Given the description of an element on the screen output the (x, y) to click on. 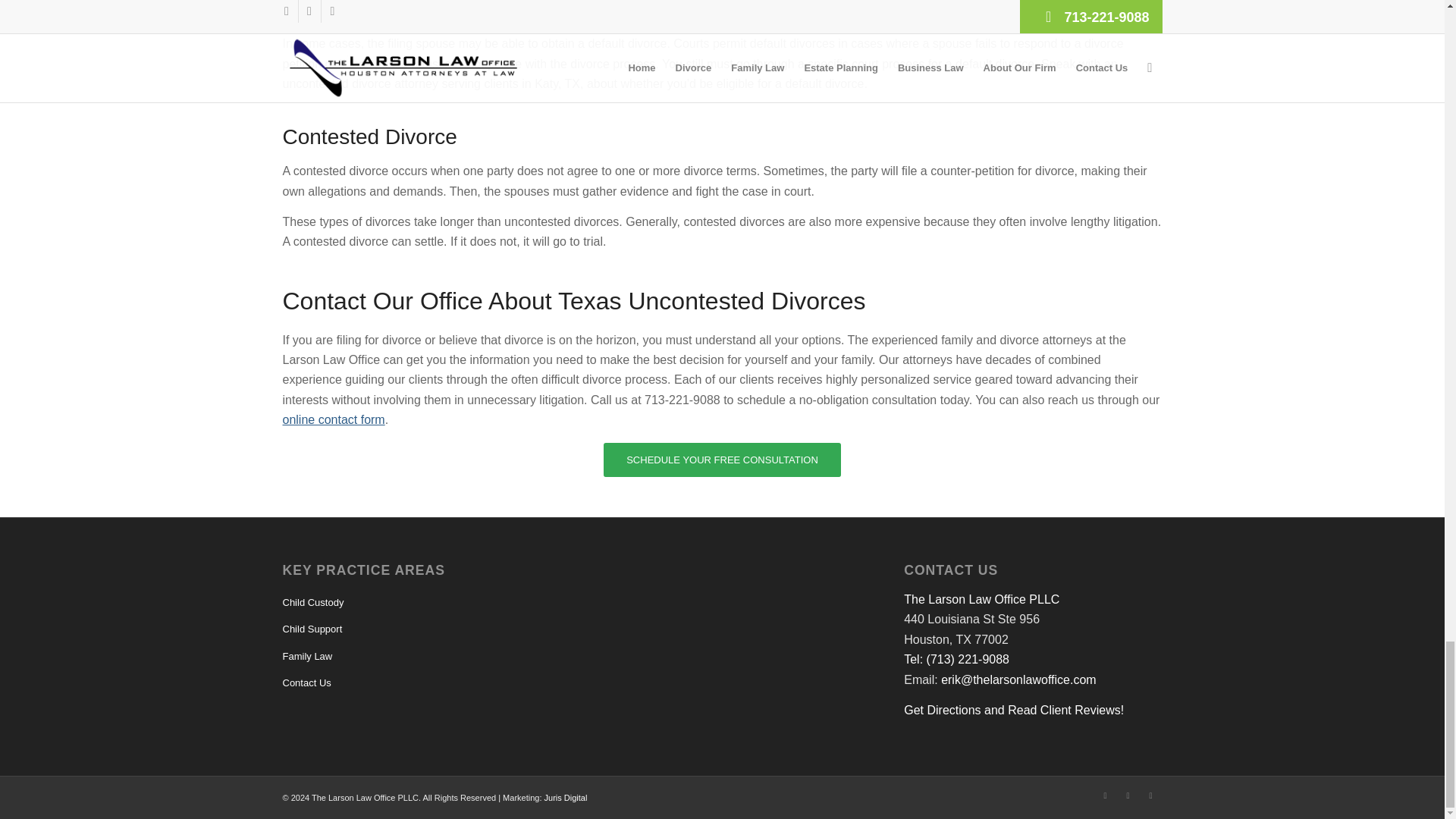
LinkedIn (1127, 794)
Youtube (1149, 794)
Facebook (1104, 794)
